Given the description of an element on the screen output the (x, y) to click on. 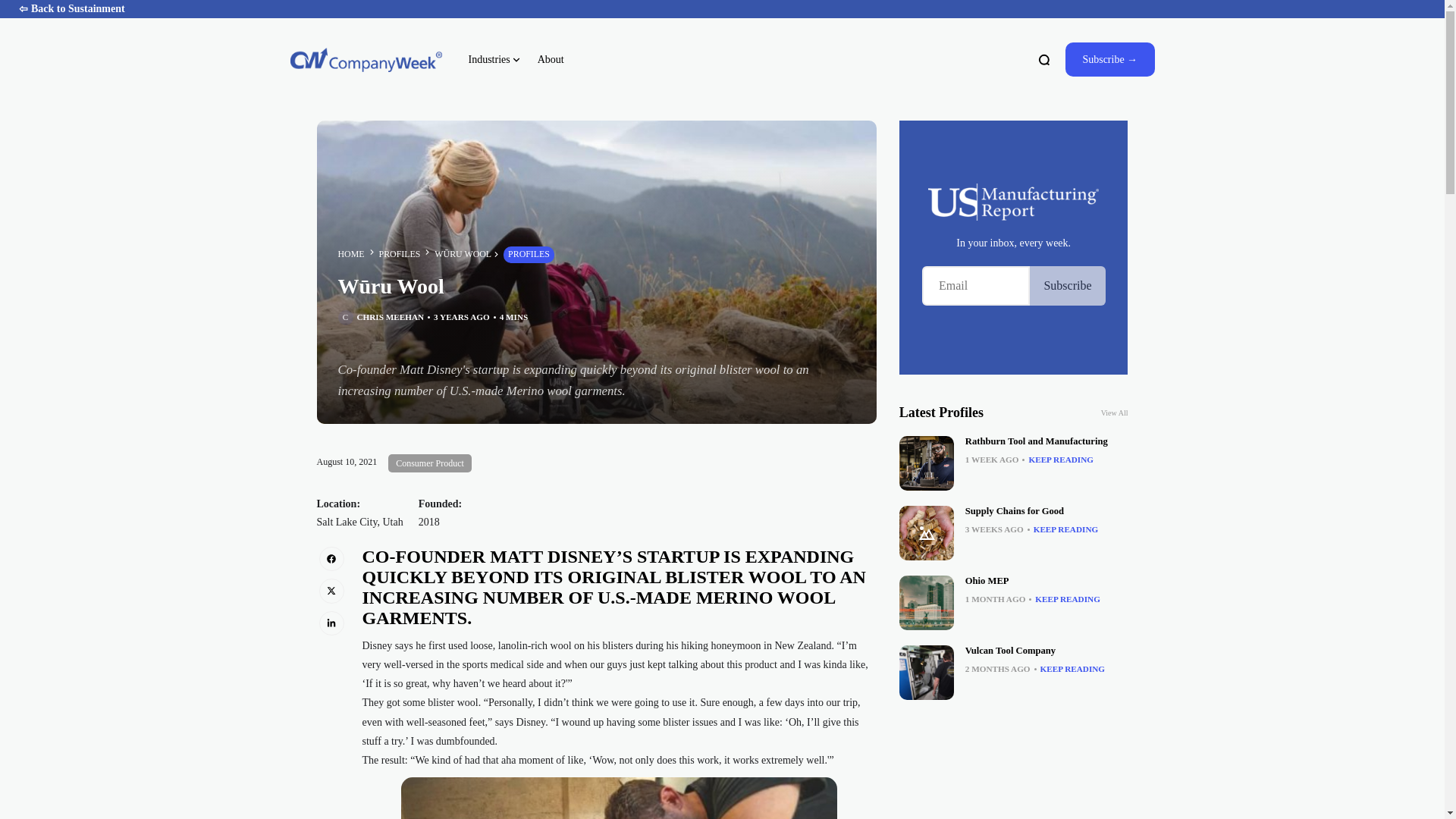
CompanyWeek (365, 59)
PROFILES (528, 254)
Posts by Chris Meehan (389, 317)
3 YEARS AGO (461, 317)
HOME (351, 254)
Ohio MEP (926, 602)
Consumer Product (430, 462)
Rathburn Tool and Manufacturing (1036, 440)
PROFILES (399, 253)
Ohio MEP (987, 580)
